Given the description of an element on the screen output the (x, y) to click on. 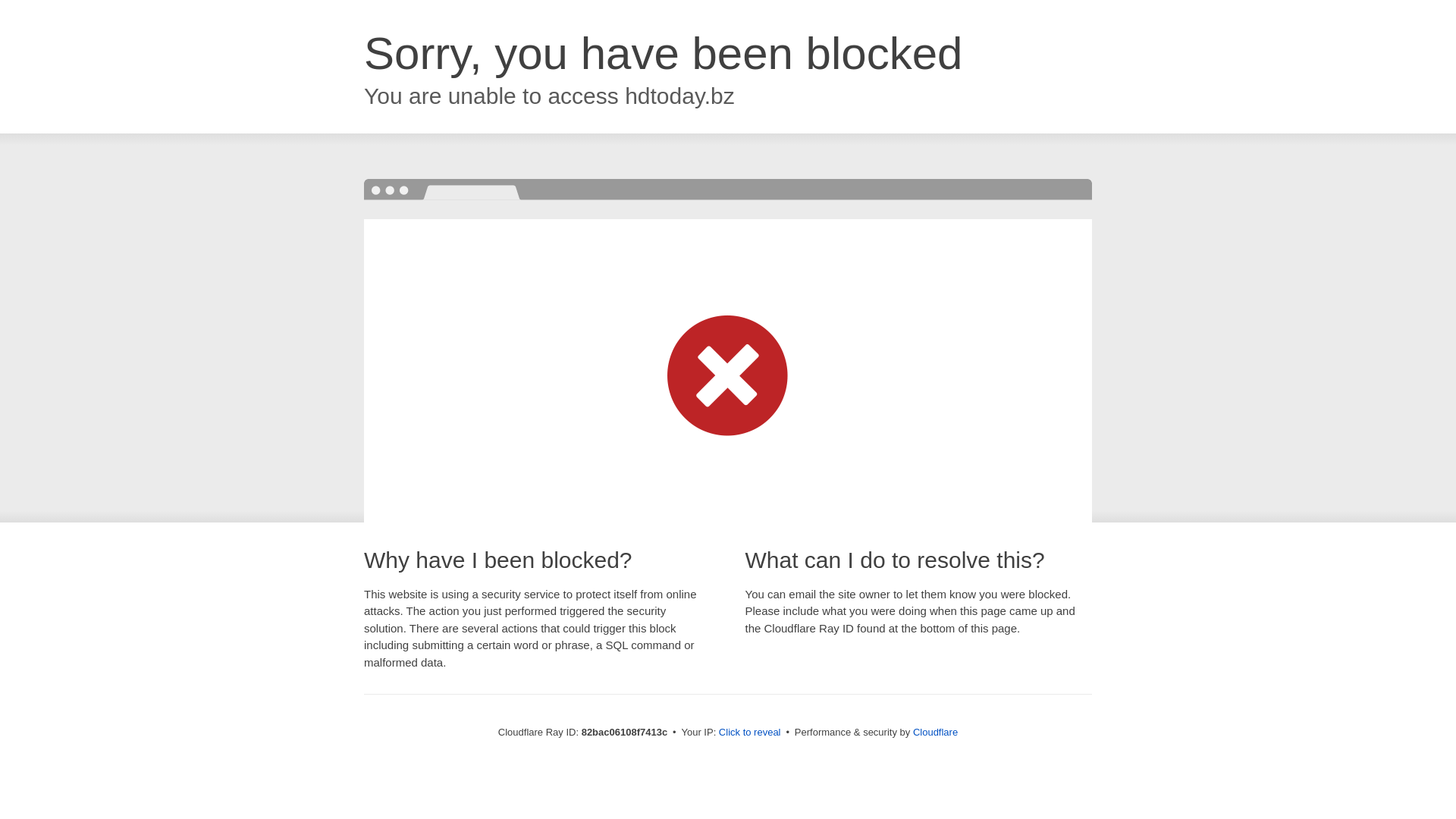
Click to reveal Element type: text (749, 732)
Cloudflare Element type: text (935, 731)
